Given the description of an element on the screen output the (x, y) to click on. 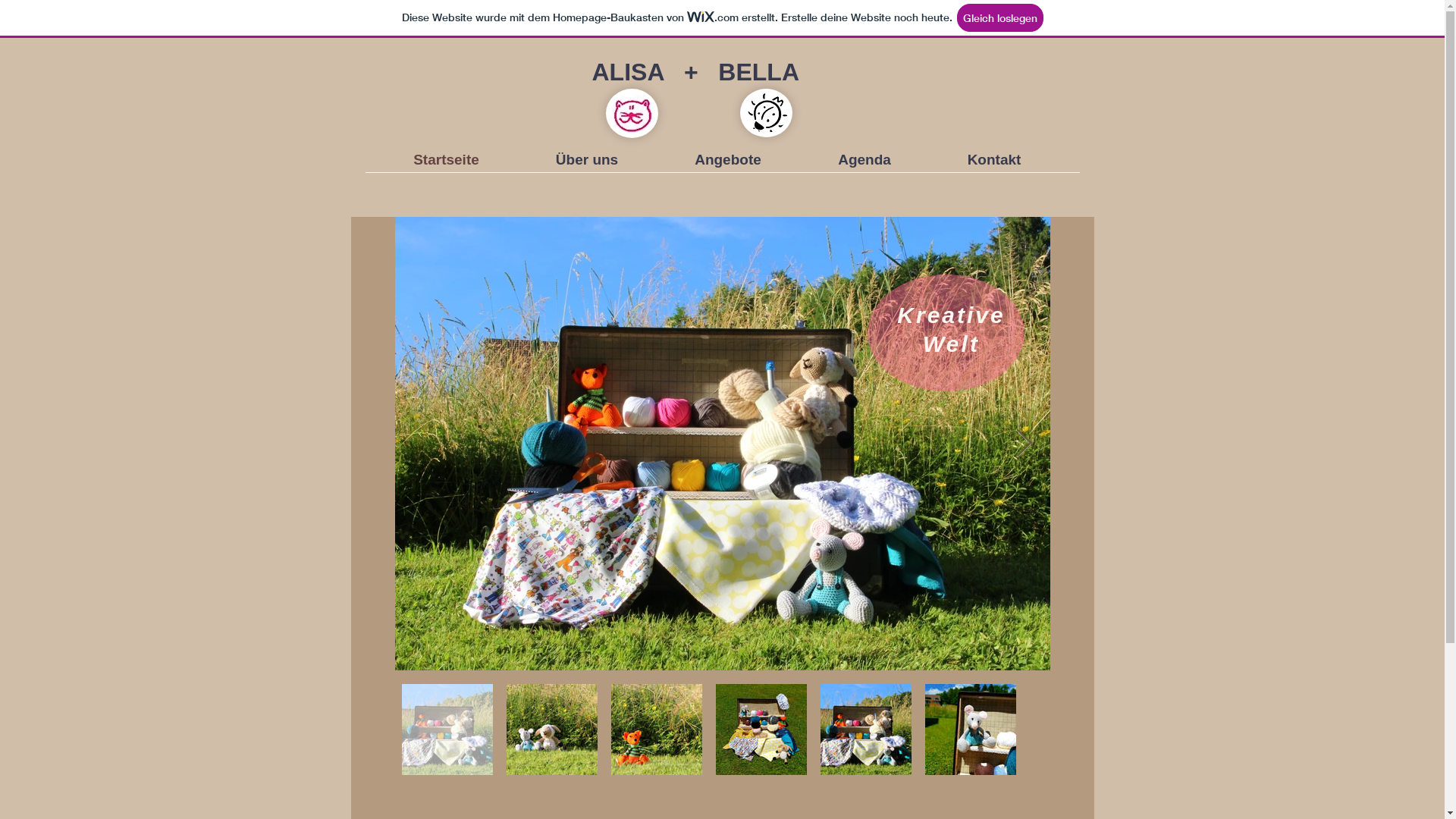
Angebote Element type: text (728, 159)
Kontakt Element type: text (994, 159)
Startseite Element type: text (445, 159)
Agenda Element type: text (863, 159)
